Given the description of an element on the screen output the (x, y) to click on. 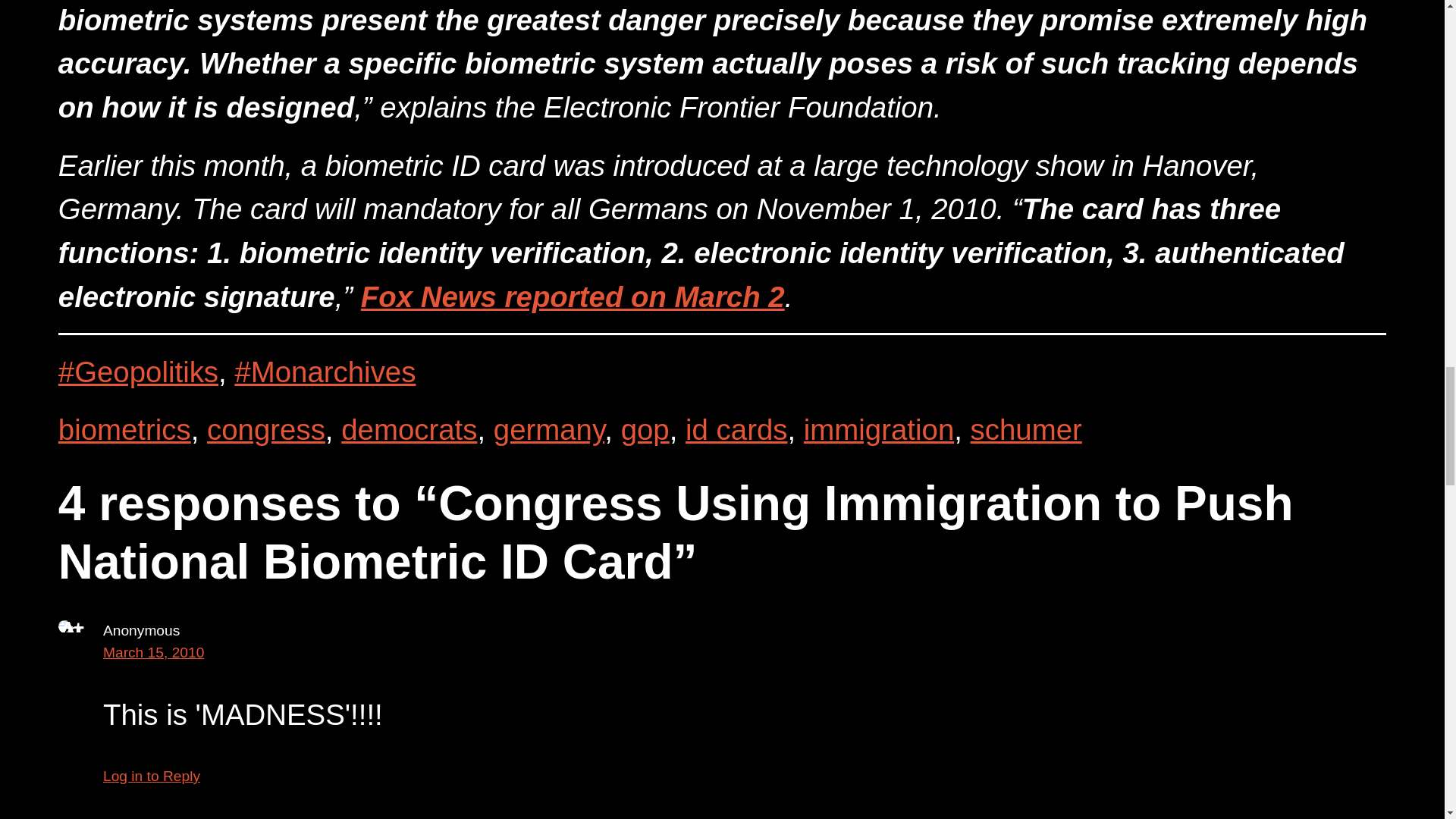
schumer (1026, 429)
Log in to Reply (151, 775)
immigration (878, 429)
id cards (736, 429)
democrats (408, 429)
March 15, 2010 (153, 652)
congress (265, 429)
Fox News reported on March 2 (572, 296)
gop (645, 429)
biometrics (124, 429)
